Given the description of an element on the screen output the (x, y) to click on. 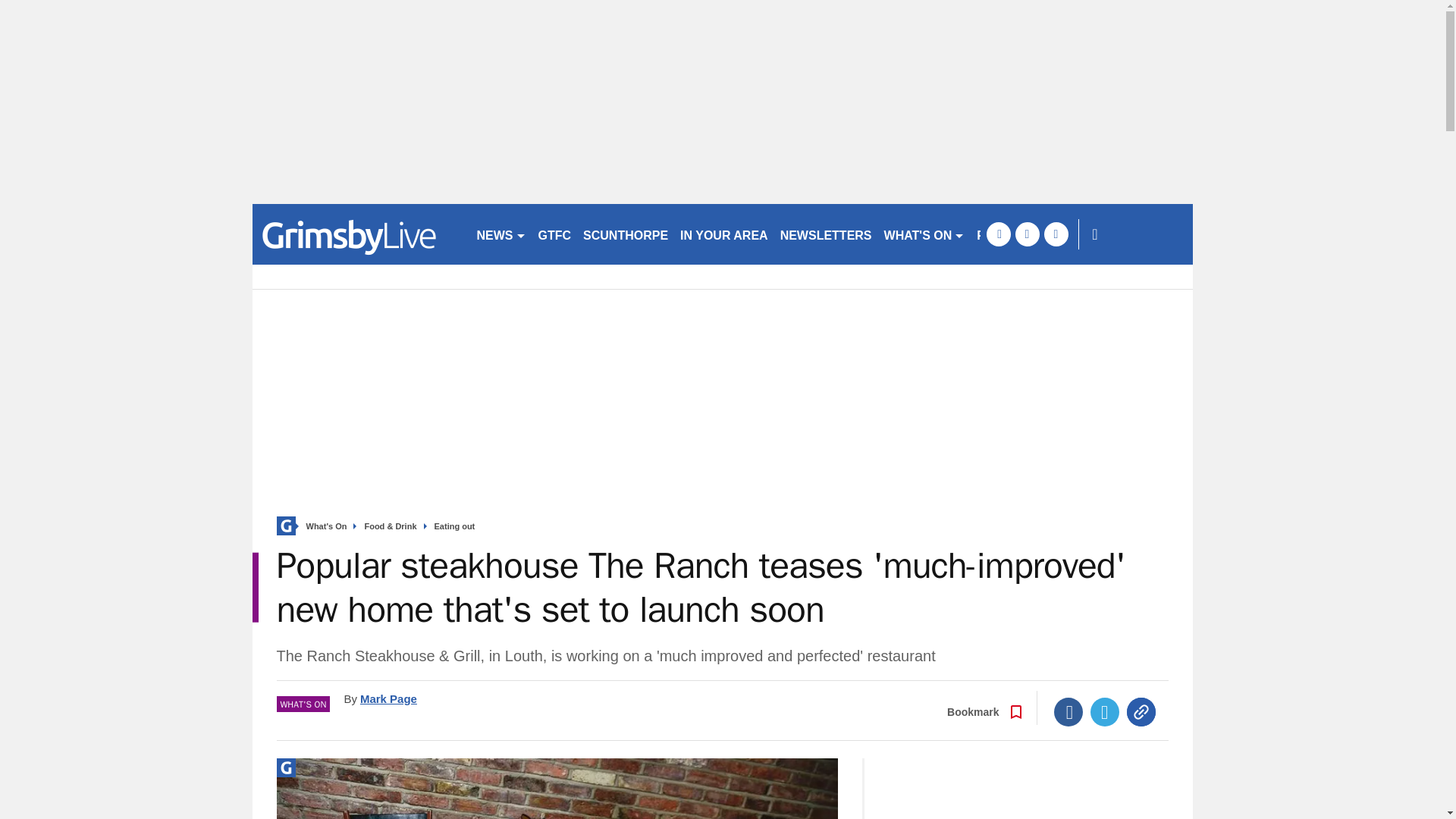
facebook (997, 233)
WHAT'S ON (924, 233)
Facebook (1068, 711)
SCUNTHORPE (625, 233)
twitter (1026, 233)
NEWS (500, 233)
grimsbytelegraph (357, 233)
instagram (1055, 233)
NEWSLETTERS (825, 233)
PARTNER STORIES (1034, 233)
